Given the description of an element on the screen output the (x, y) to click on. 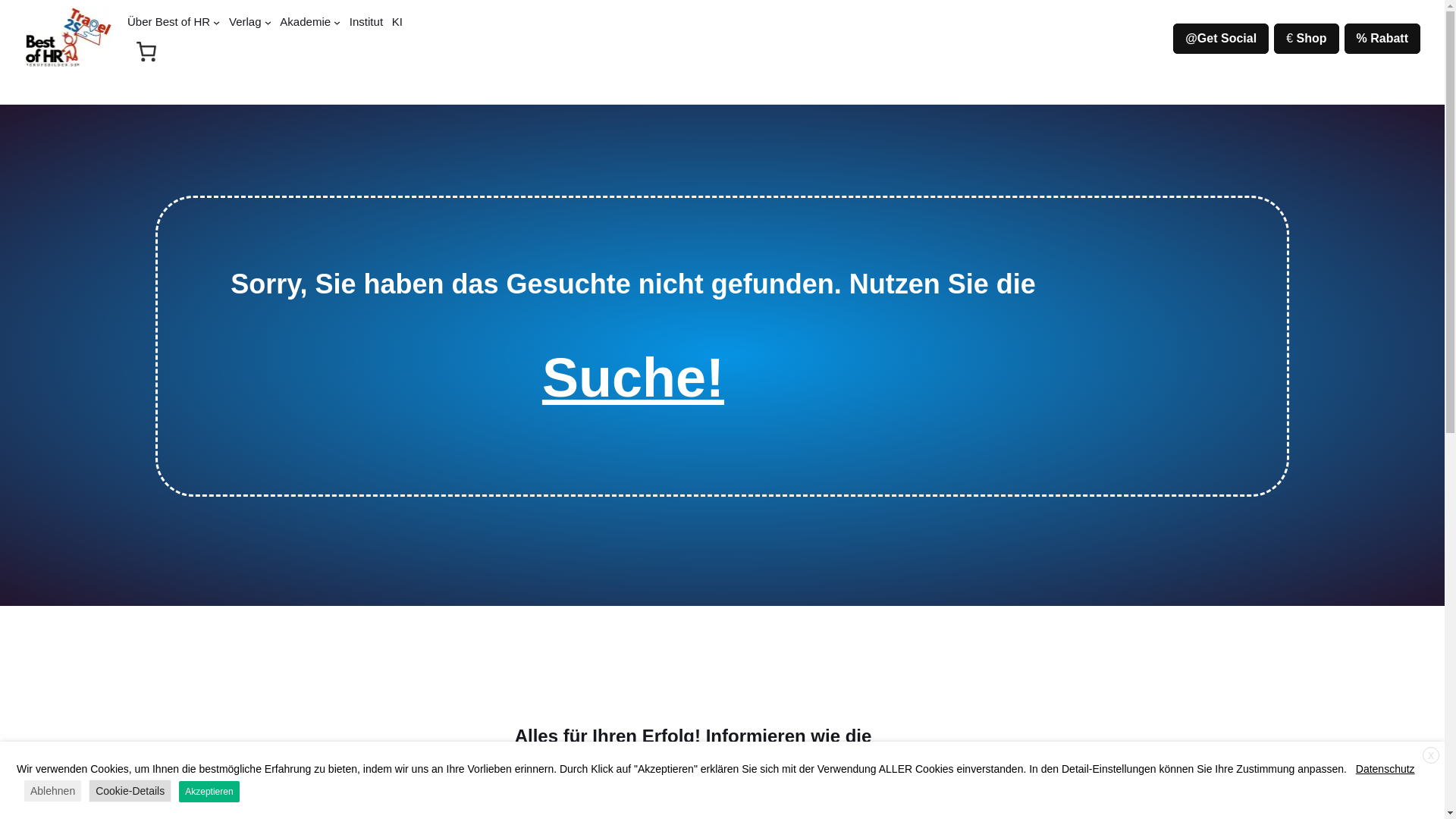
Institut (365, 21)
Akademie (304, 21)
Suche! (632, 377)
Close and Accept (1430, 754)
Verlag (245, 21)
